Given the description of an element on the screen output the (x, y) to click on. 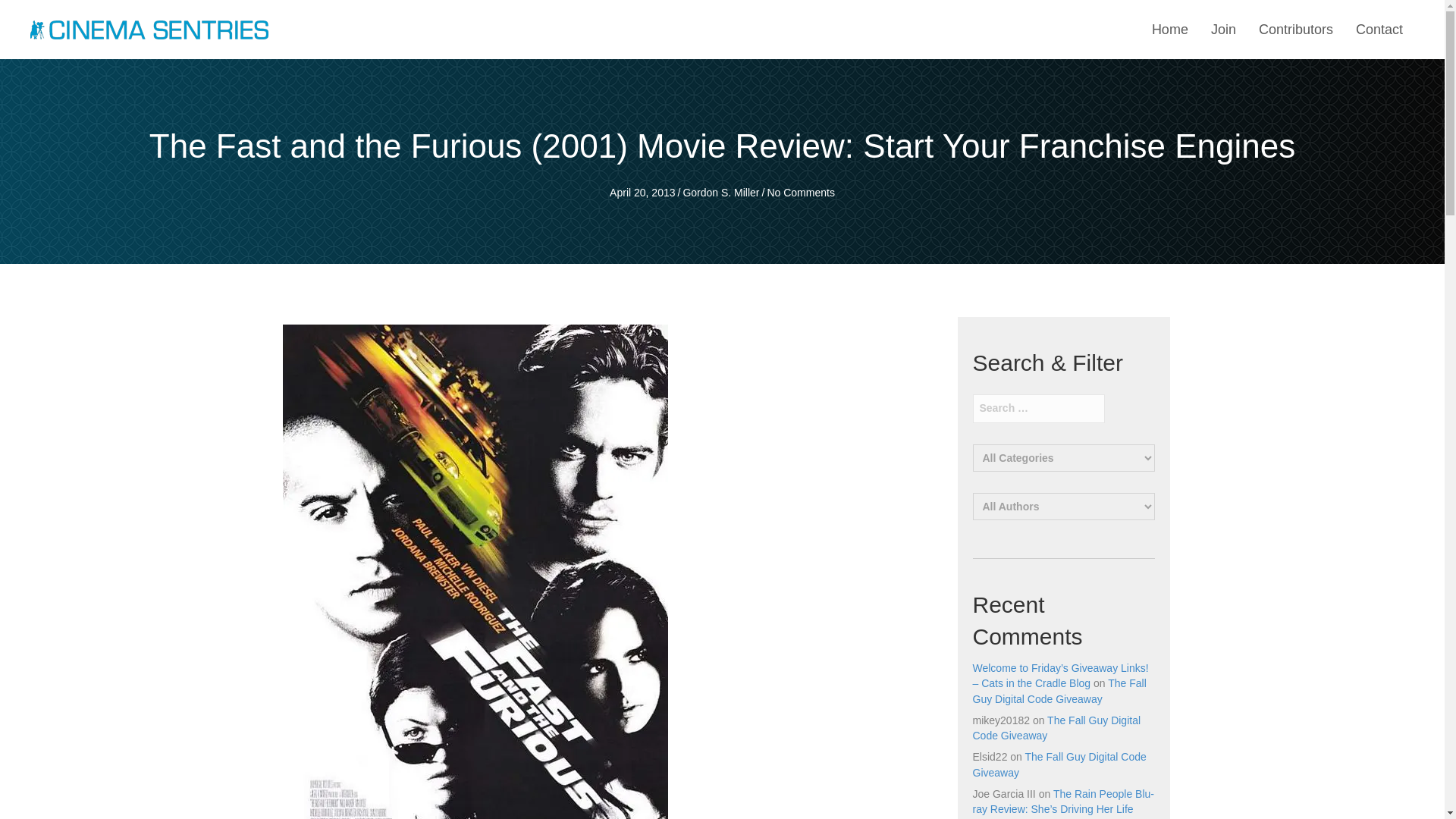
Cinema Sentries (148, 28)
Join (1223, 29)
Contributors (1295, 29)
The Fall Guy Digital Code Giveaway (1058, 690)
The Fall Guy Digital Code Giveaway (1058, 764)
No Comments (800, 192)
Gordon S. Miller (720, 192)
The Fall Guy Digital Code Giveaway (1056, 728)
Home (1169, 29)
Contact (1379, 29)
